Given the description of an element on the screen output the (x, y) to click on. 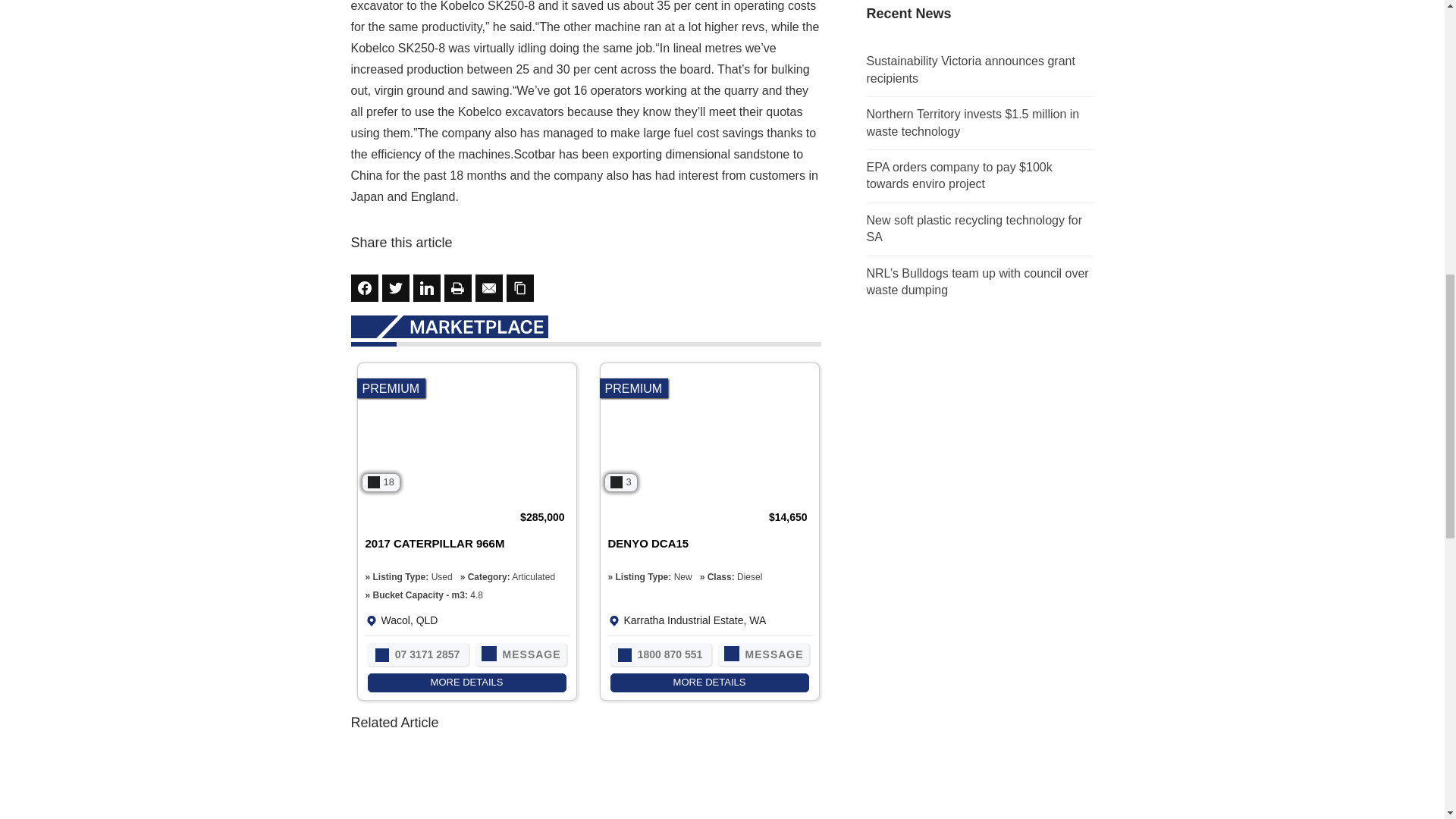
Share on Email (488, 288)
Share on LinkedIn (425, 288)
Share on Facebook (363, 288)
Share on Print (457, 288)
Share on Twitter (395, 288)
Share on Copy Link (520, 288)
